Given the description of an element on the screen output the (x, y) to click on. 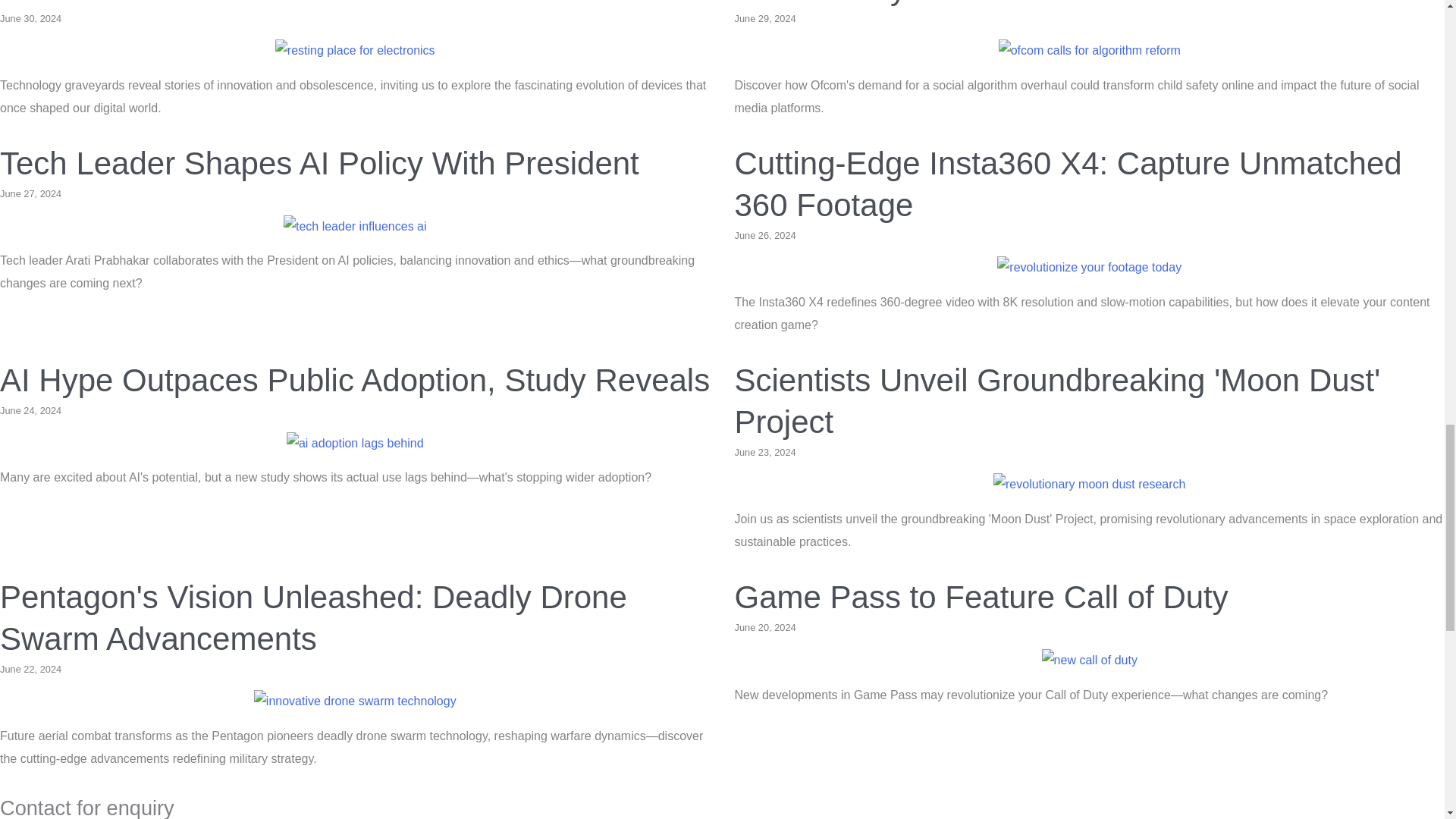
Scientists Unveil Groundbreaking 'Moon Dust' Project (1056, 400)
June 30, 2024 (30, 18)
June 27, 2024 (30, 193)
Cutting-Edge Insta360 X4: Capture Unmatched 360 Footage (1066, 183)
Technology Graveyard: Where Old Electronics Rest (355, 50)
Tech Leader Shapes AI Policy With President (354, 226)
9:14 pm (30, 410)
Pentagon's Vision Unleashed: Deadly Drone Swarm Advancements (313, 617)
AI Hype Outpaces Public Adoption, Study Reveals (354, 442)
